Given the description of an element on the screen output the (x, y) to click on. 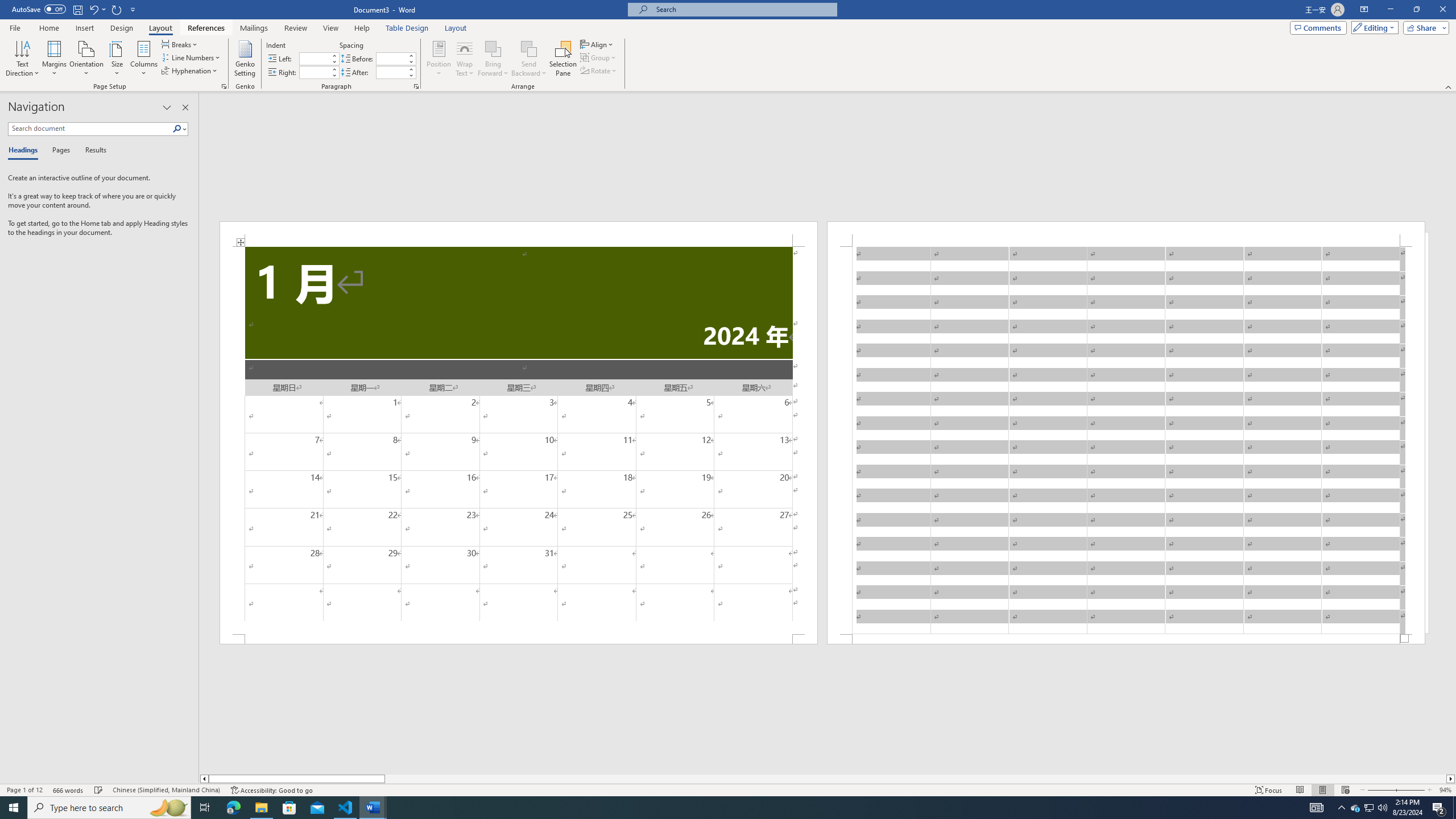
Breaks (179, 44)
Spelling and Grammar Check Checking (98, 790)
Focus  (1268, 790)
Paragraph... (416, 85)
Size (116, 58)
Search (177, 128)
System (6, 6)
Selection Pane... (563, 58)
Accessibility Checker Accessibility: Good to go (271, 790)
Column right (1450, 778)
AutoSave (38, 9)
Collapse the Ribbon (1448, 86)
Repeat Doc Close (117, 9)
